Given the description of an element on the screen output the (x, y) to click on. 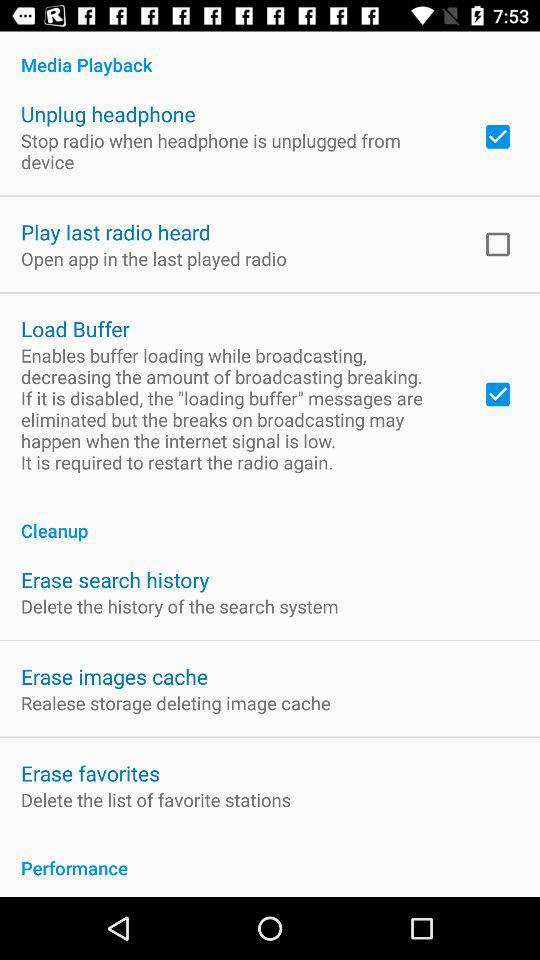
flip until the realese storage deleting (175, 702)
